Given the description of an element on the screen output the (x, y) to click on. 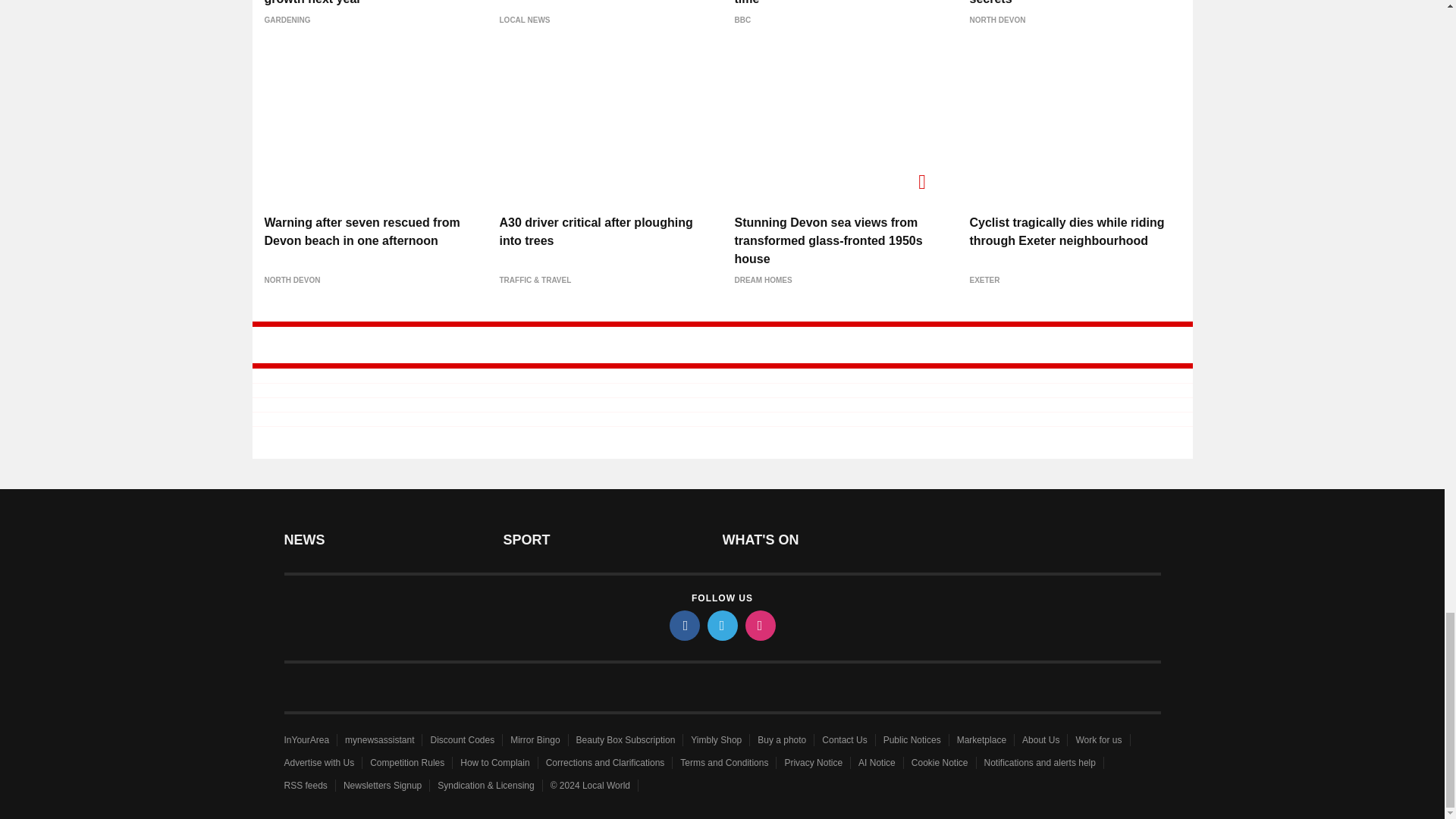
facebook (683, 625)
twitter (721, 625)
instagram (759, 625)
